Given the description of an element on the screen output the (x, y) to click on. 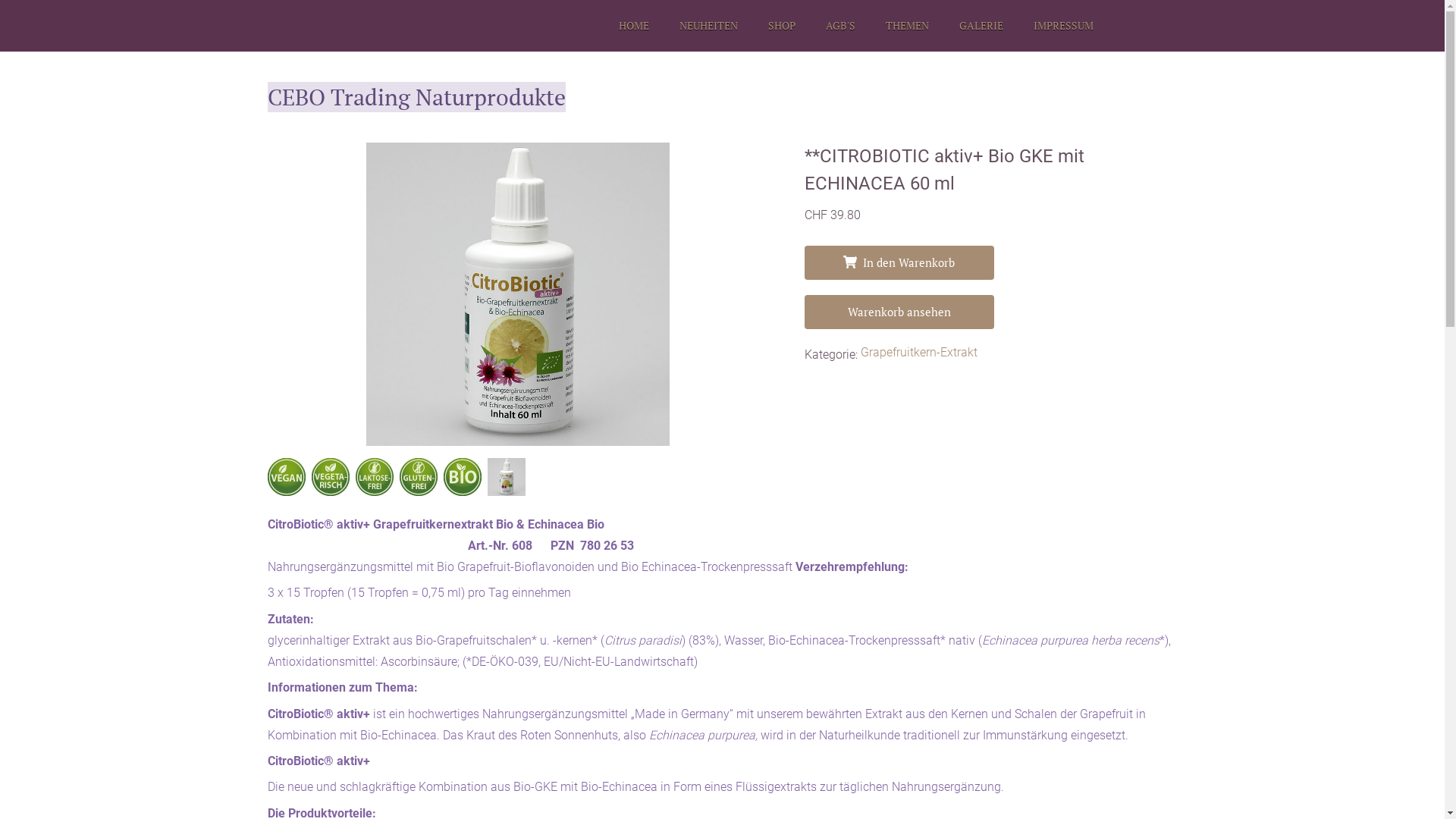
Grapefruitkern-Extrakt Element type: text (917, 354)
NEUHEITEN Element type: text (708, 25)
HOME Element type: text (633, 25)
**CITROBIOTIC aktiv+ Bio GKE mit ECHINACEA 60 ml Element type: hover (516, 293)
THEMEN Element type: text (907, 25)
GALERIE Element type: text (980, 25)
Warenkorb ansehen Element type: text (898, 311)
In den Warenkorb Element type: text (898, 262)
SHOP Element type: text (780, 25)
IMPRESSUM Element type: text (1062, 25)
AGB'S Element type: text (839, 25)
